Given the description of an element on the screen output the (x, y) to click on. 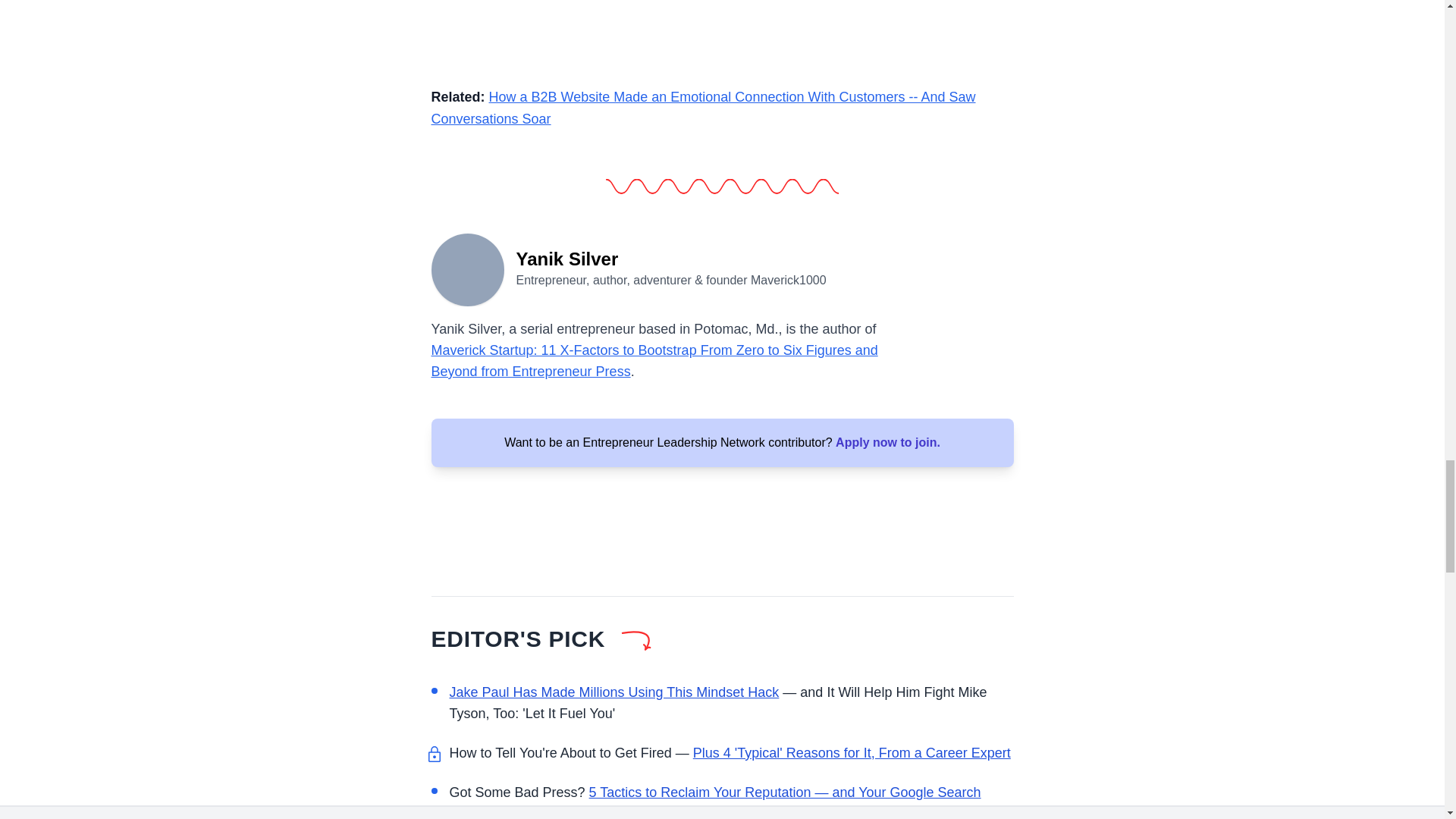
Yanik Silver (466, 268)
